Given the description of an element on the screen output the (x, y) to click on. 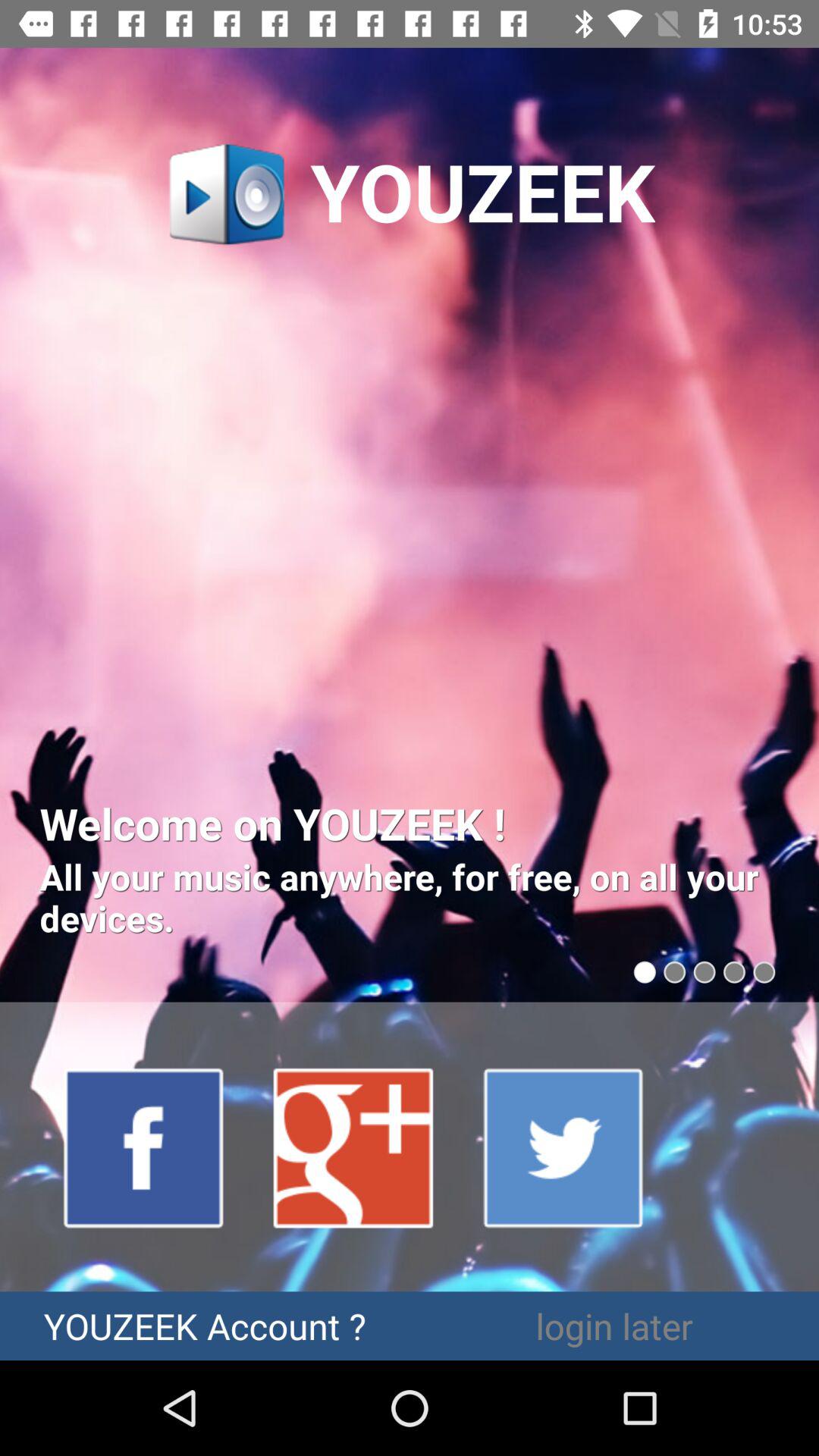
jump until youzeek account ? item (204, 1325)
